Given the description of an element on the screen output the (x, y) to click on. 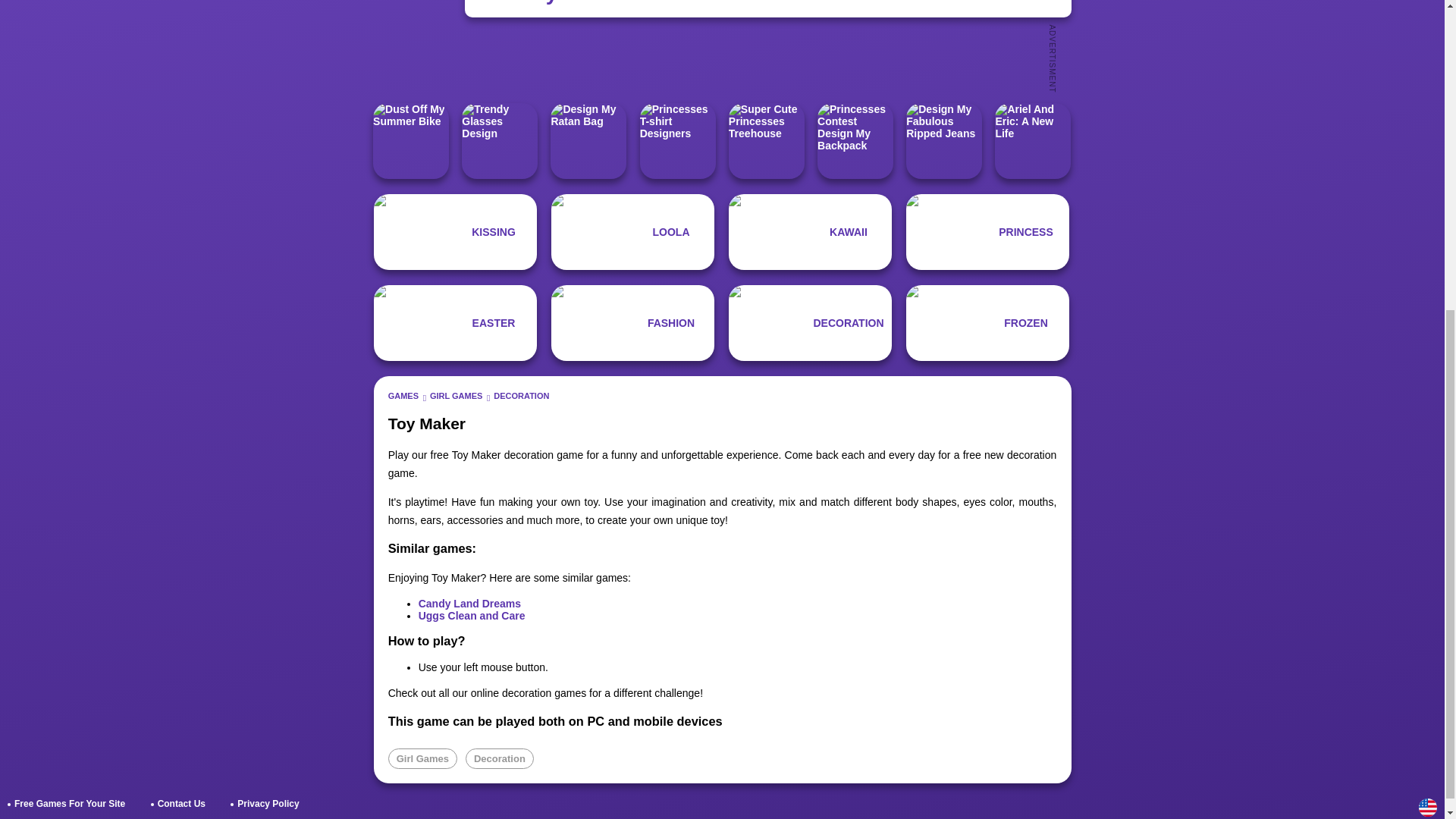
Princesses Contest Design My Backpack (854, 141)
Princess (986, 232)
Girl Games (422, 758)
Candy Land Dreams (470, 603)
DECORATION (520, 395)
Uggs Clean and Care (472, 615)
KISSING (455, 232)
LOOLA (632, 232)
Free Games For Your Site (69, 803)
EASTER (455, 323)
Ariel And Eric: A New Life (1032, 141)
Kissing (455, 232)
Kawaii (810, 232)
Trendy Glasses Design (499, 141)
FASHION (632, 323)
